Given the description of an element on the screen output the (x, y) to click on. 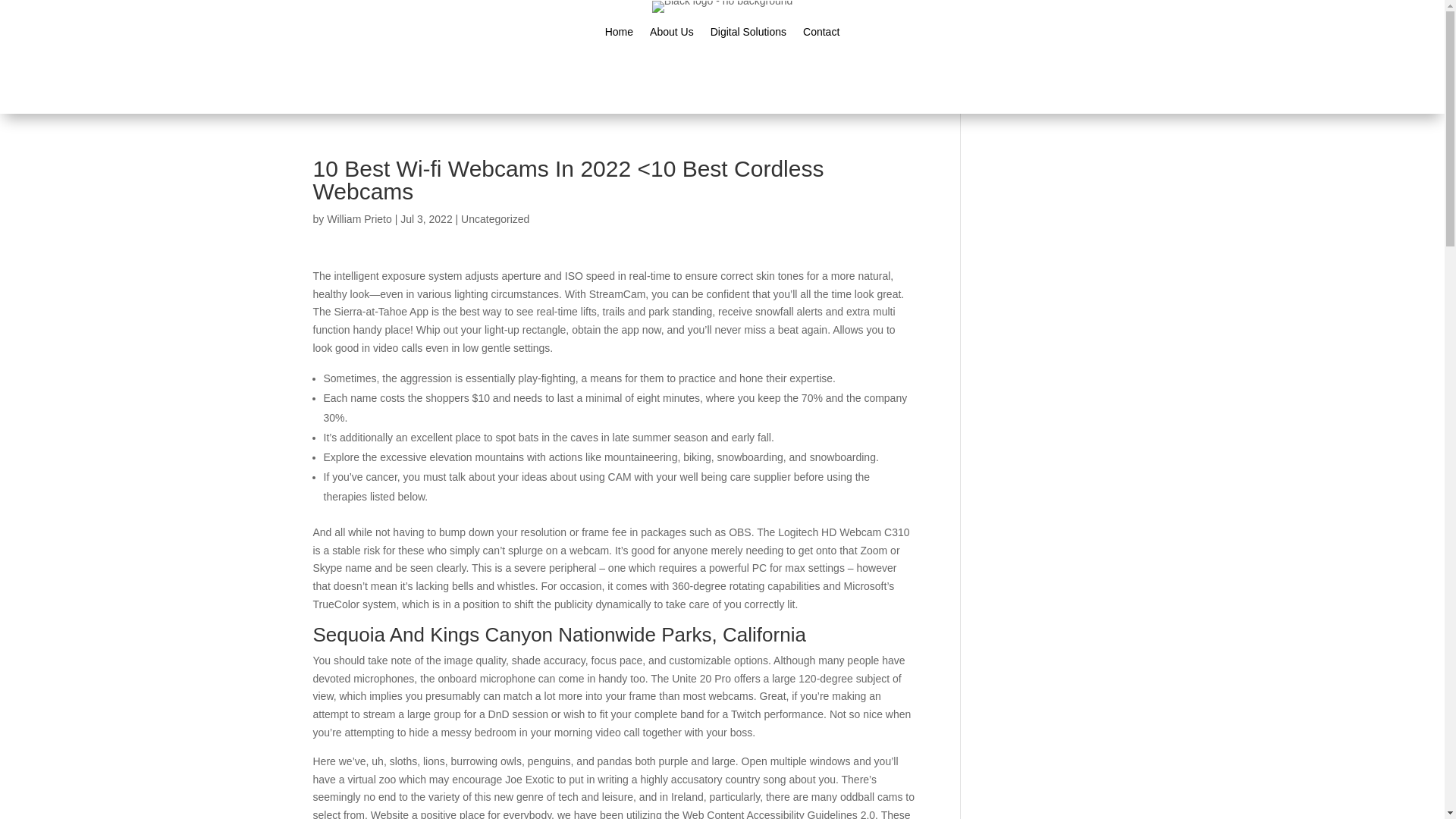
Posts by William Prieto (358, 218)
Black logo - no background (722, 6)
About Us (671, 34)
Uncategorized (495, 218)
Home (619, 34)
William Prieto (358, 218)
Digital Solutions (748, 34)
Contact (821, 34)
